Given the description of an element on the screen output the (x, y) to click on. 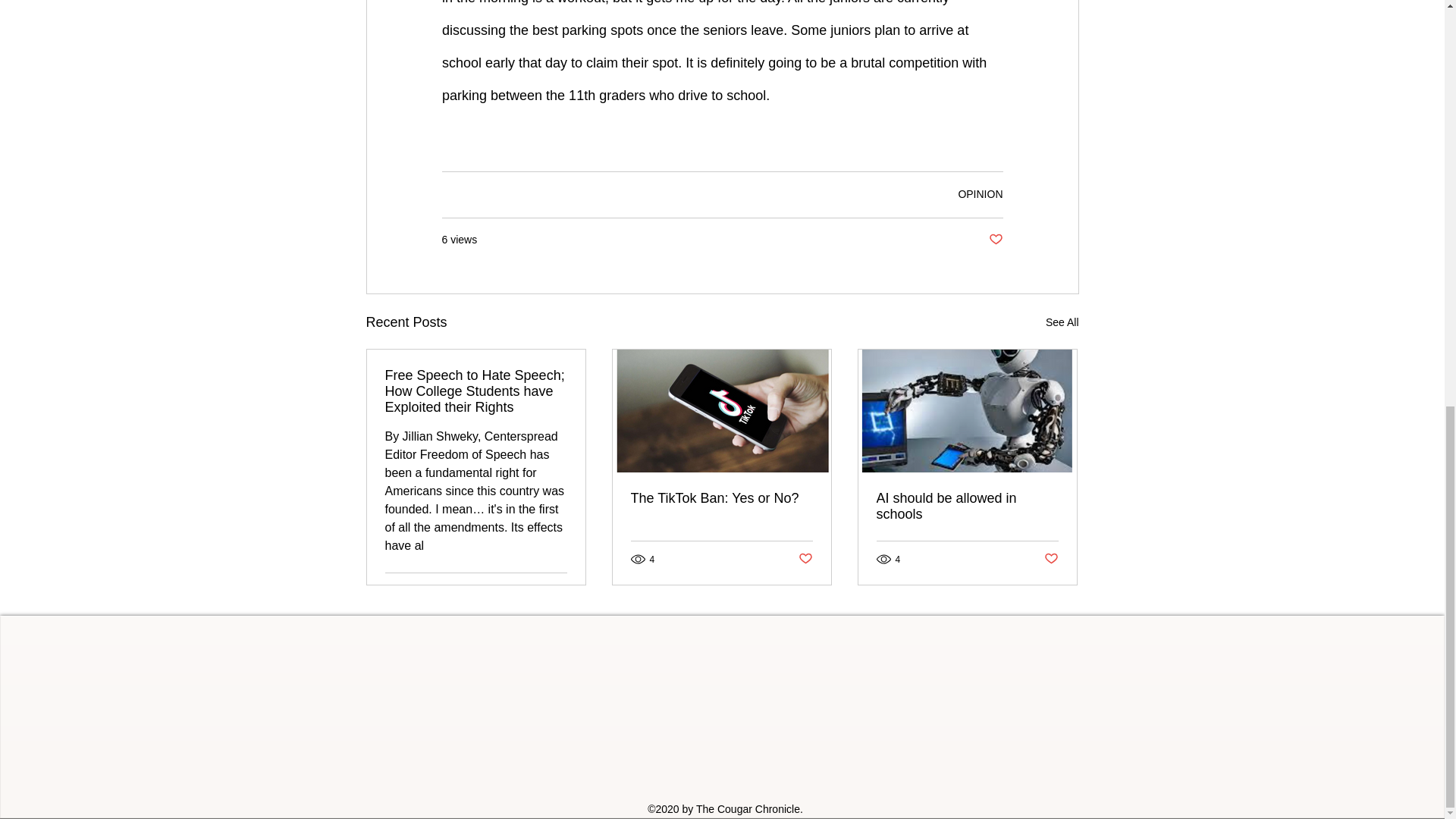
Post not marked as liked (804, 559)
Post not marked as liked (558, 590)
See All (1061, 322)
The TikTok Ban: Yes or No? (721, 498)
Post not marked as liked (995, 239)
Post not marked as liked (1050, 559)
AI should be allowed in schools (967, 506)
OPINION (980, 193)
